Given the description of an element on the screen output the (x, y) to click on. 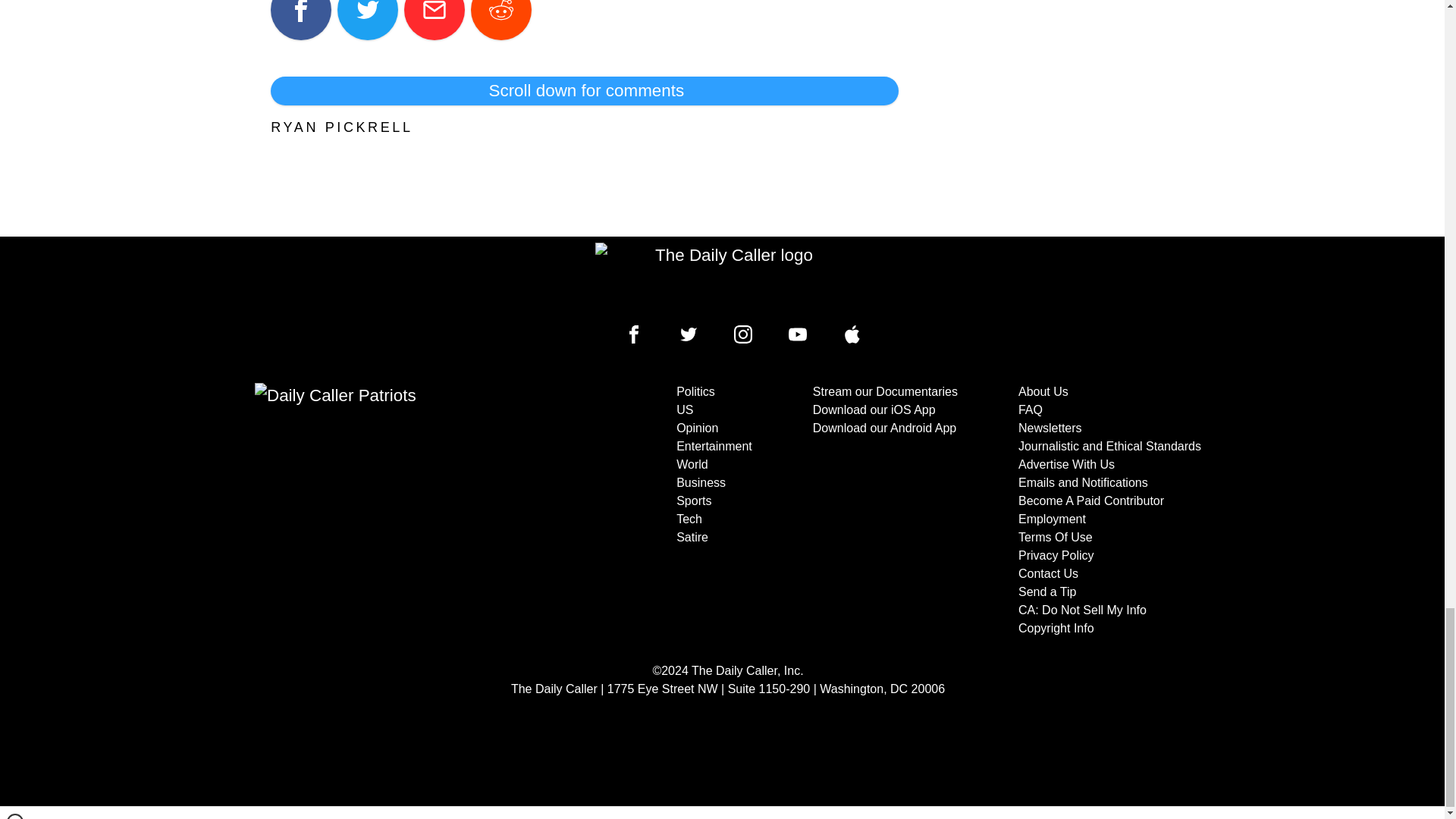
Scroll down for comments (584, 90)
To home page (727, 277)
Daily Caller YouTube (797, 334)
Daily Caller YouTube (852, 334)
Daily Caller Facebook (633, 334)
Subscribe to The Daily Caller (405, 510)
Daily Caller Instagram (742, 334)
Daily Caller Twitter (688, 334)
